Given the description of an element on the screen output the (x, y) to click on. 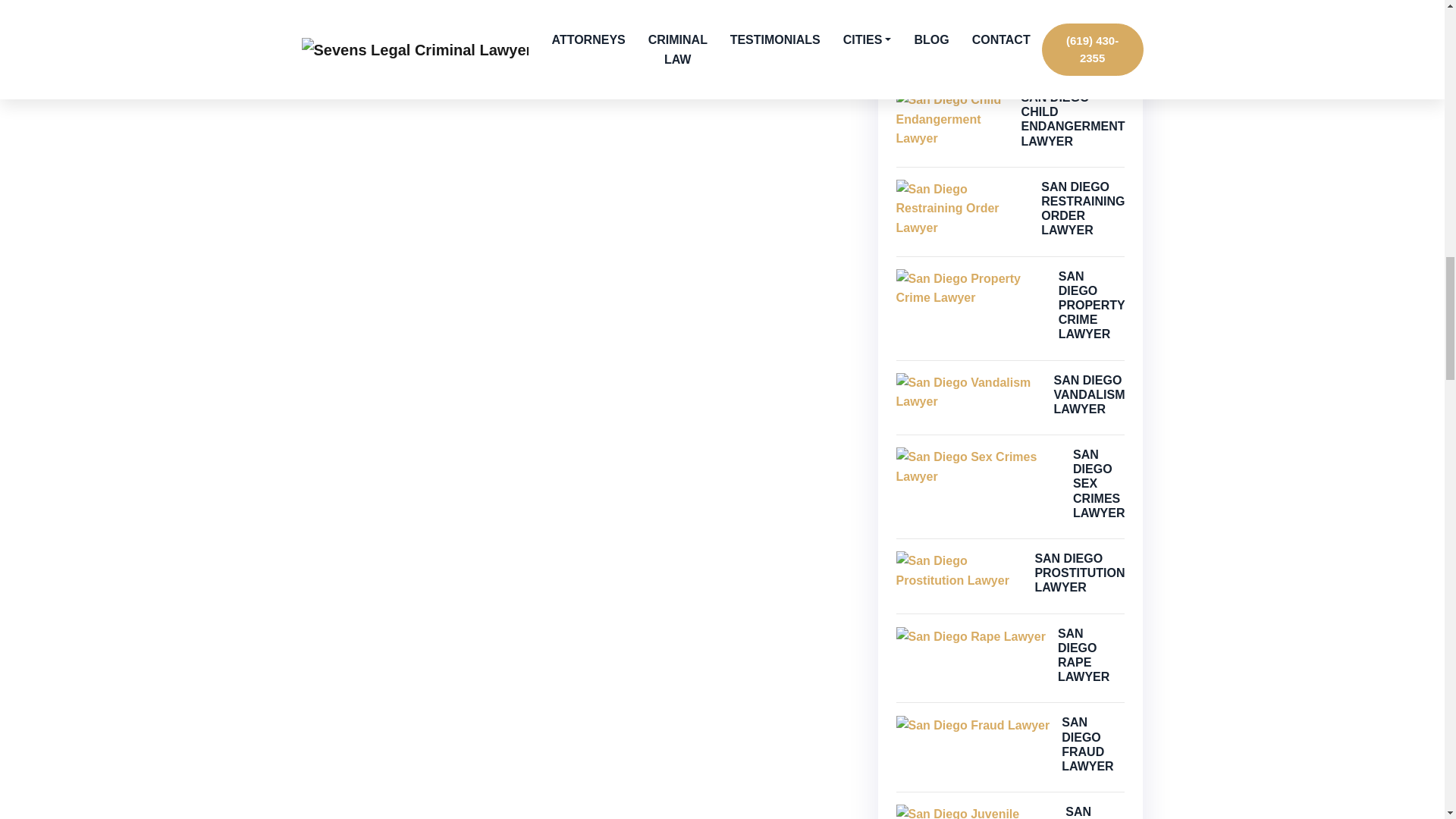
San Diego Child Abuse Lawyer (978, 12)
San Diego Child Endangerment Lawyer (952, 119)
